Given the description of an element on the screen output the (x, y) to click on. 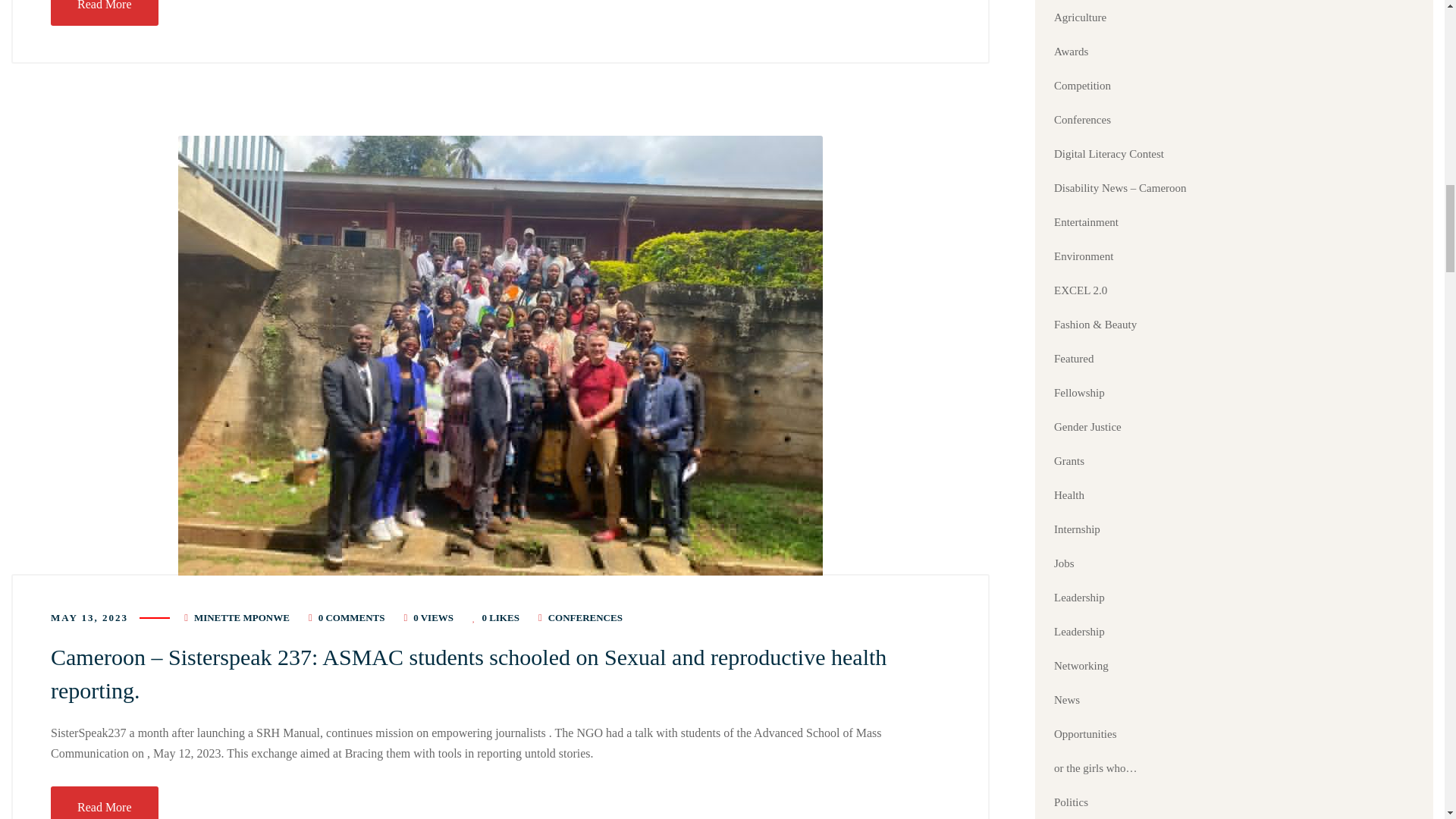
MINETTE MPONWE (241, 617)
Read More (104, 12)
View all posts in Conferences (585, 617)
0 COMMENTS (351, 617)
